Given the description of an element on the screen output the (x, y) to click on. 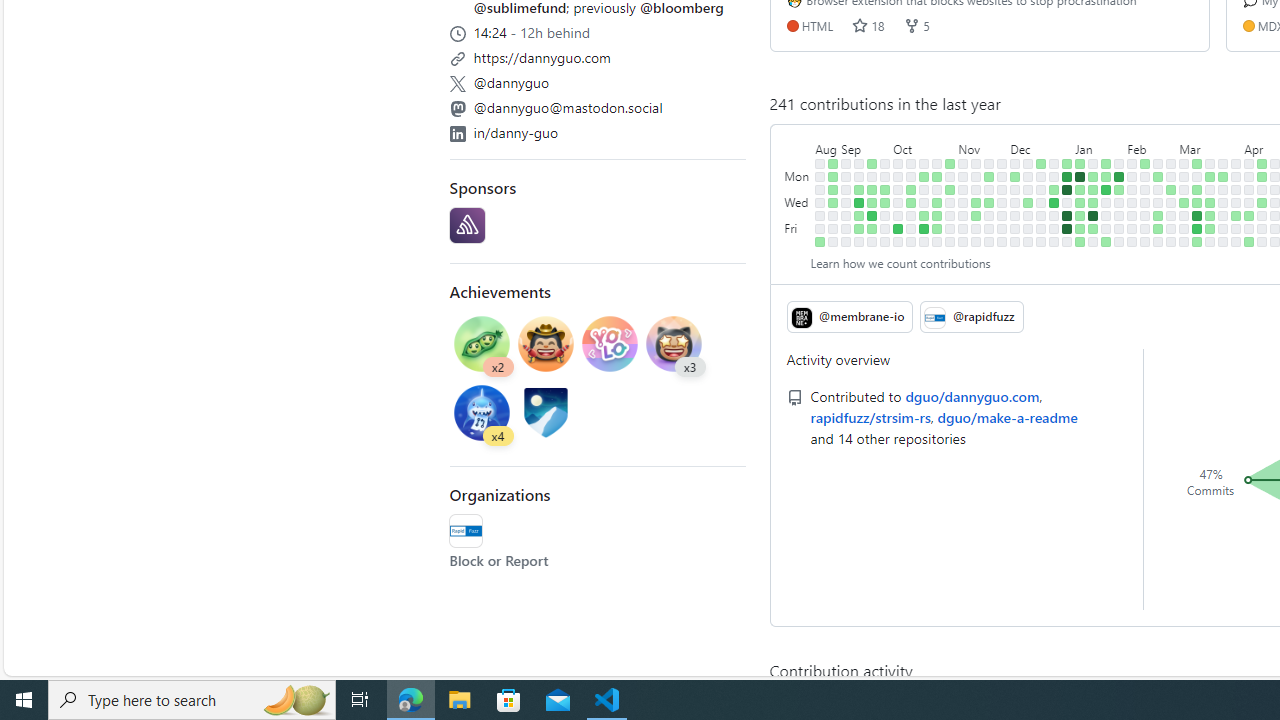
1 contribution on December 31st. (1067, 163)
No contributions on February 8th. (1131, 215)
No contributions on March 24th. (1223, 163)
No contributions on March 2nd. (1171, 241)
No contributions on March 11th. (1197, 176)
1 contribution on January 9th. (1080, 189)
No contributions on December 9th. (1015, 241)
No contributions on October 22nd. (937, 163)
4 contributions on March 15th. (1197, 228)
No contributions on March 7th. (1184, 215)
2 contributions on September 17th. (872, 163)
3 contributions on September 20th. (872, 202)
1 contribution on September 26th. (885, 189)
No contributions on March 19th. (1210, 189)
Day of Week (797, 145)
